Given the description of an element on the screen output the (x, y) to click on. 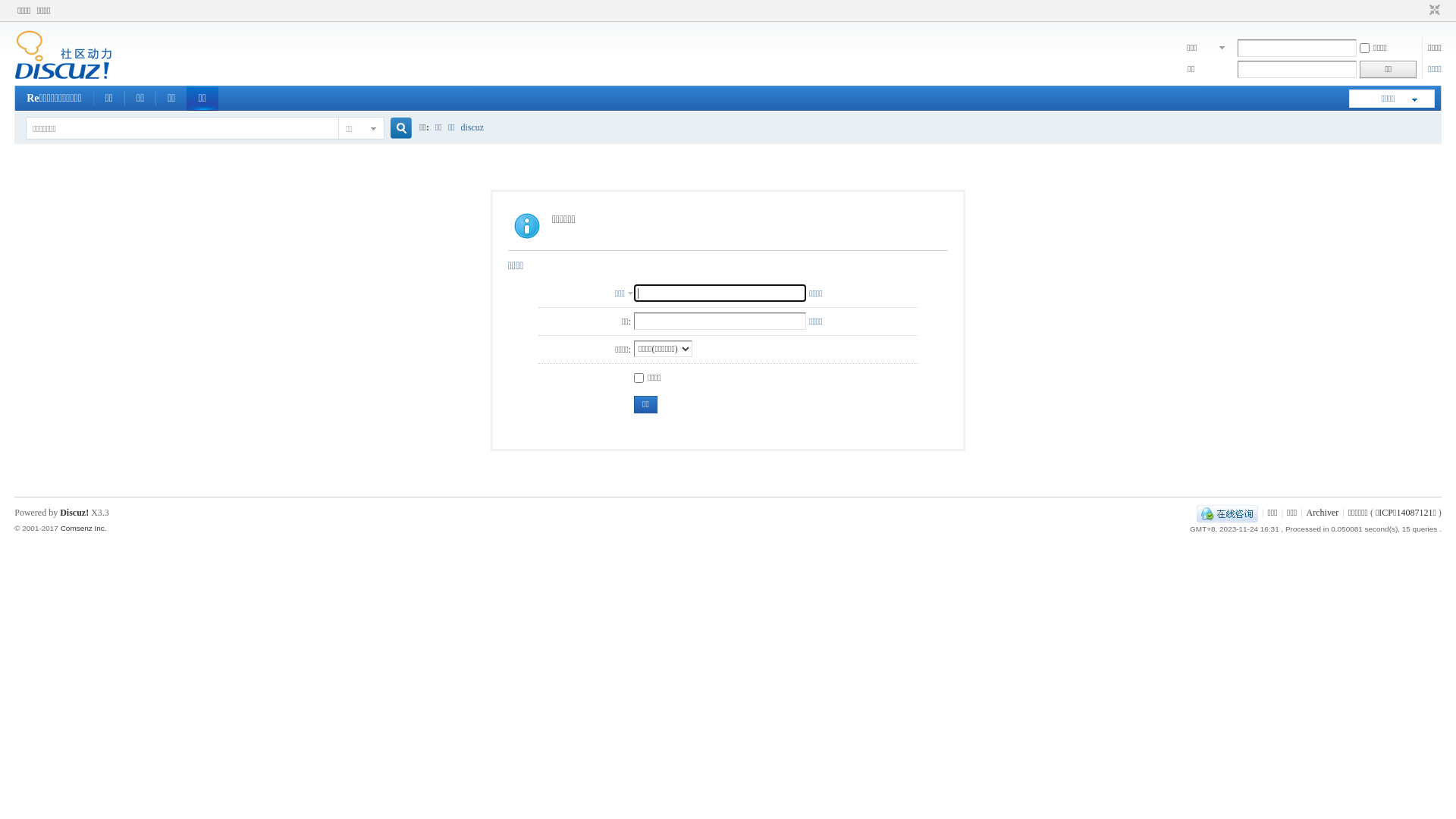
Archiver Element type: text (1322, 512)
Discuz! Element type: text (73, 512)
discuz Element type: text (472, 127)
Comsenz Inc. Element type: text (83, 528)
true Element type: text (395, 128)
QQ Element type: hover (1227, 512)
